Given the description of an element on the screen output the (x, y) to click on. 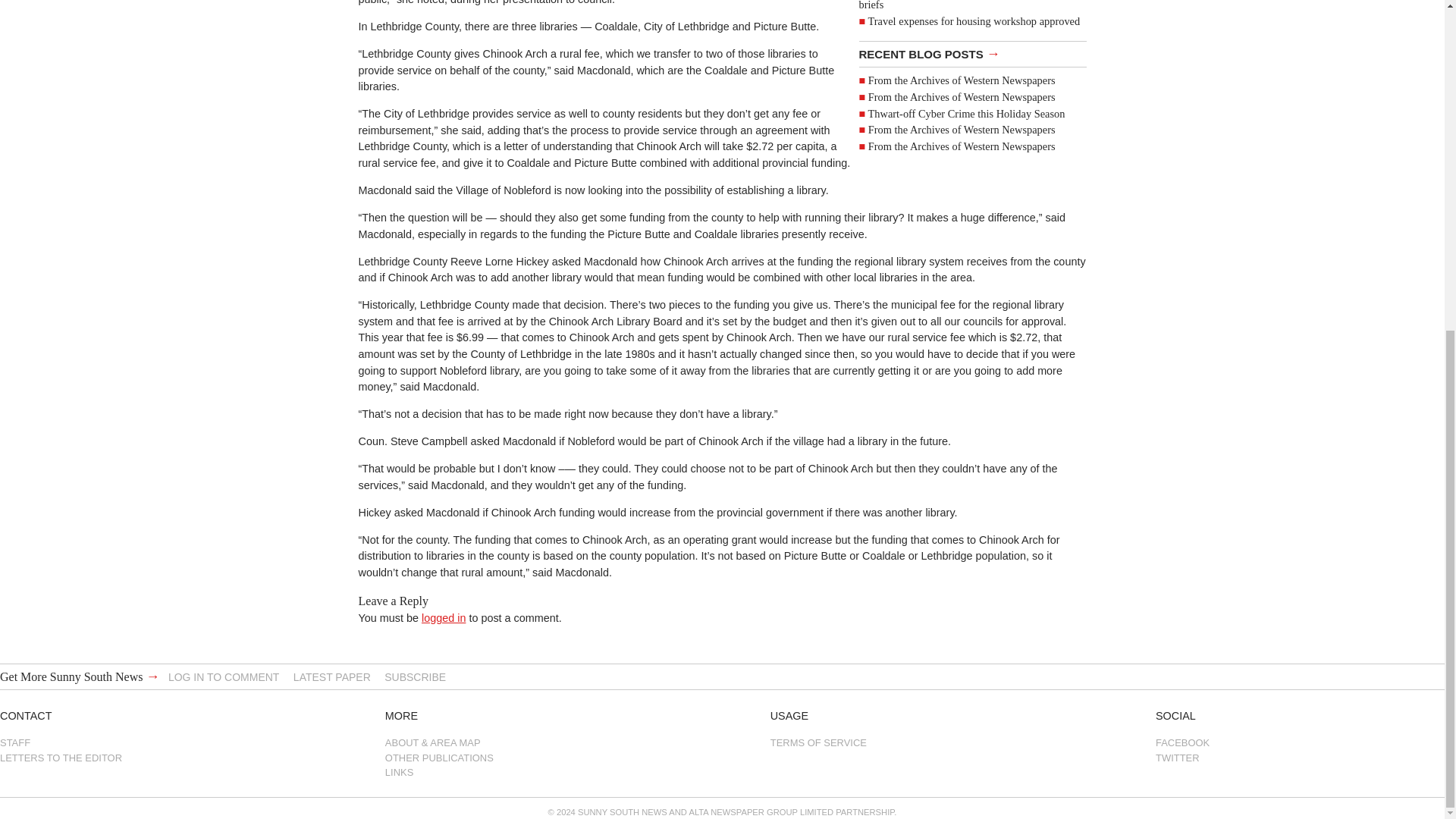
LOG IN TO COMMENT (223, 676)
logged in (443, 617)
From the Archives of Western Newspapers (961, 146)
From the Archives of Western Newspapers (961, 96)
Travel expenses for housing workshop approved (973, 21)
From the Archives of Western Newspapers (961, 80)
Nobleford June 11 Regular Council Meeting briefs (960, 5)
Thwart-off Cyber Crime this Holiday Season (966, 113)
From the Archives of Western Newspapers (961, 129)
